Given the description of an element on the screen output the (x, y) to click on. 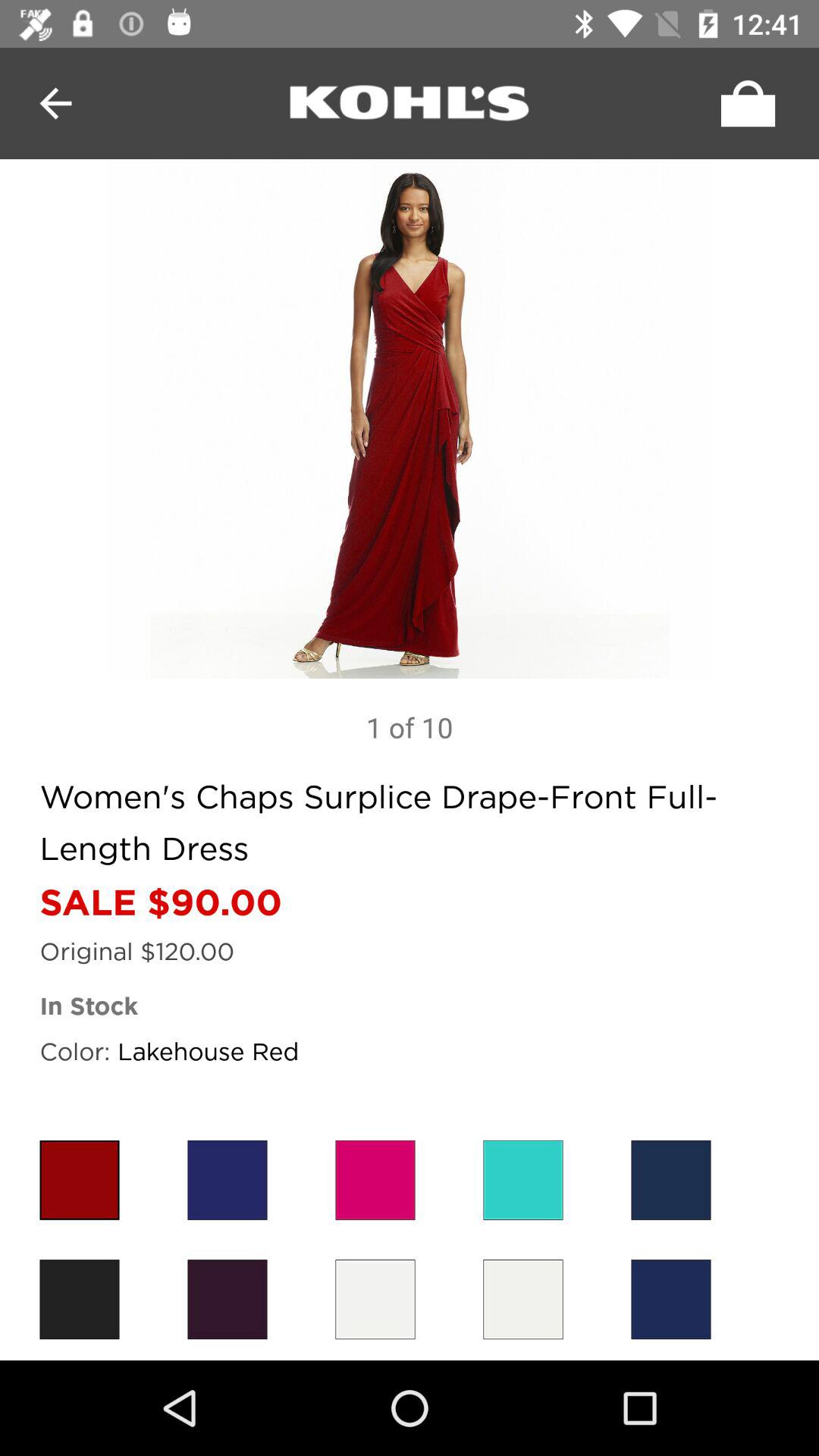
open shopping cart (744, 103)
